Given the description of an element on the screen output the (x, y) to click on. 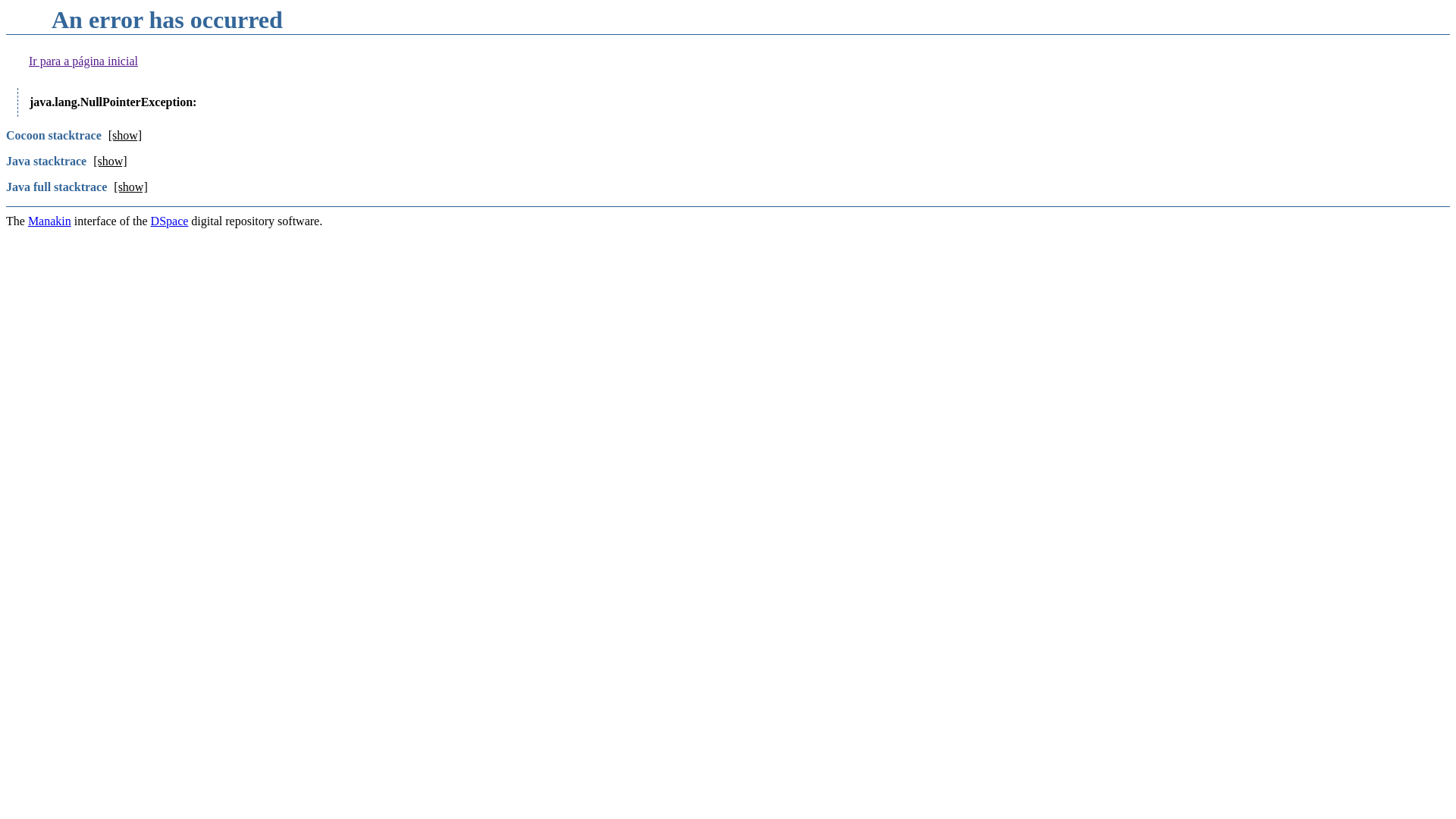
[show] Element type: text (124, 134)
[show] Element type: text (130, 186)
Manakin Element type: text (49, 220)
[show] Element type: text (109, 160)
DSpace Element type: text (169, 220)
